Given the description of an element on the screen output the (x, y) to click on. 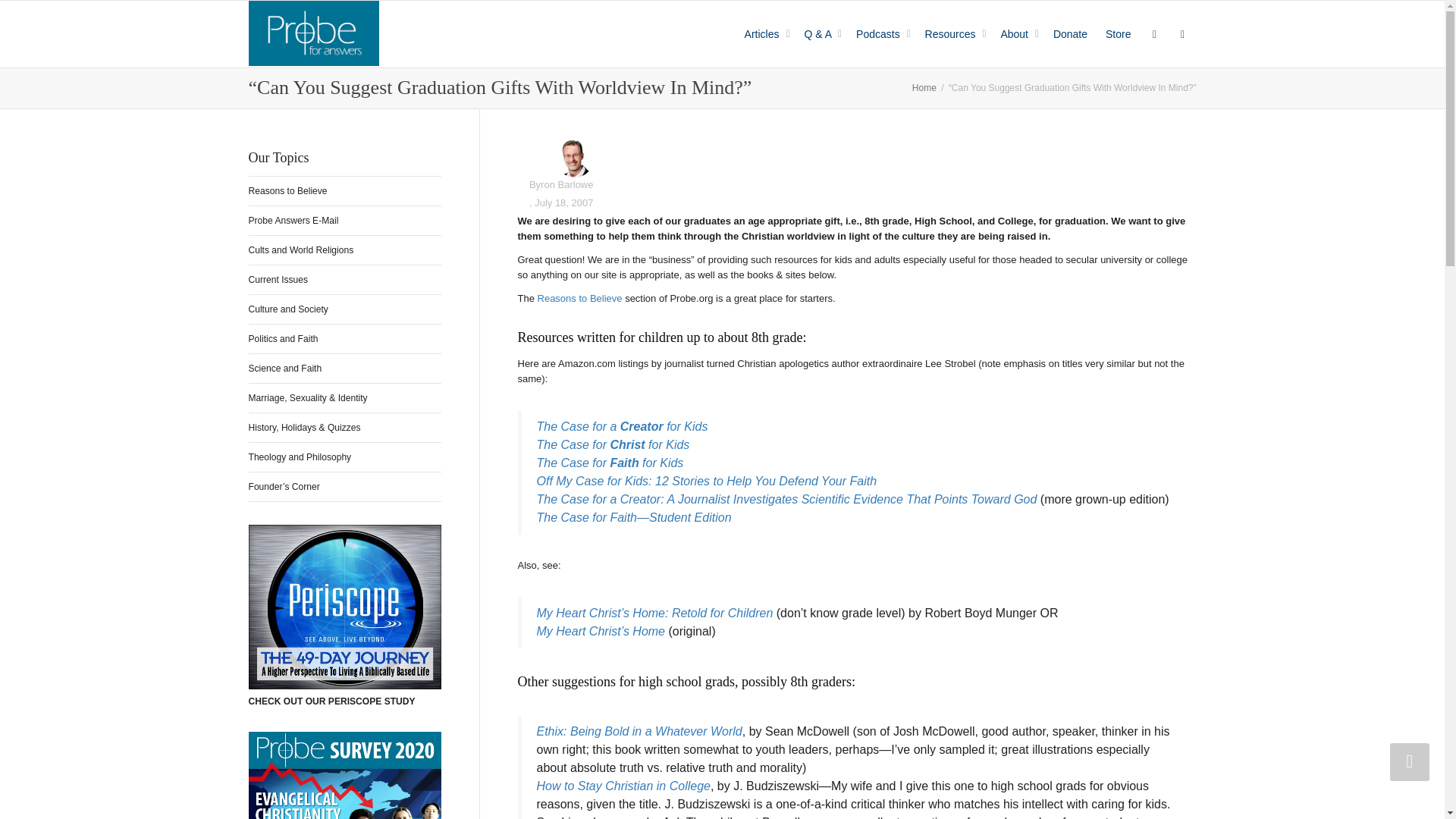
Probe Ministries (313, 33)
